Given the description of an element on the screen output the (x, y) to click on. 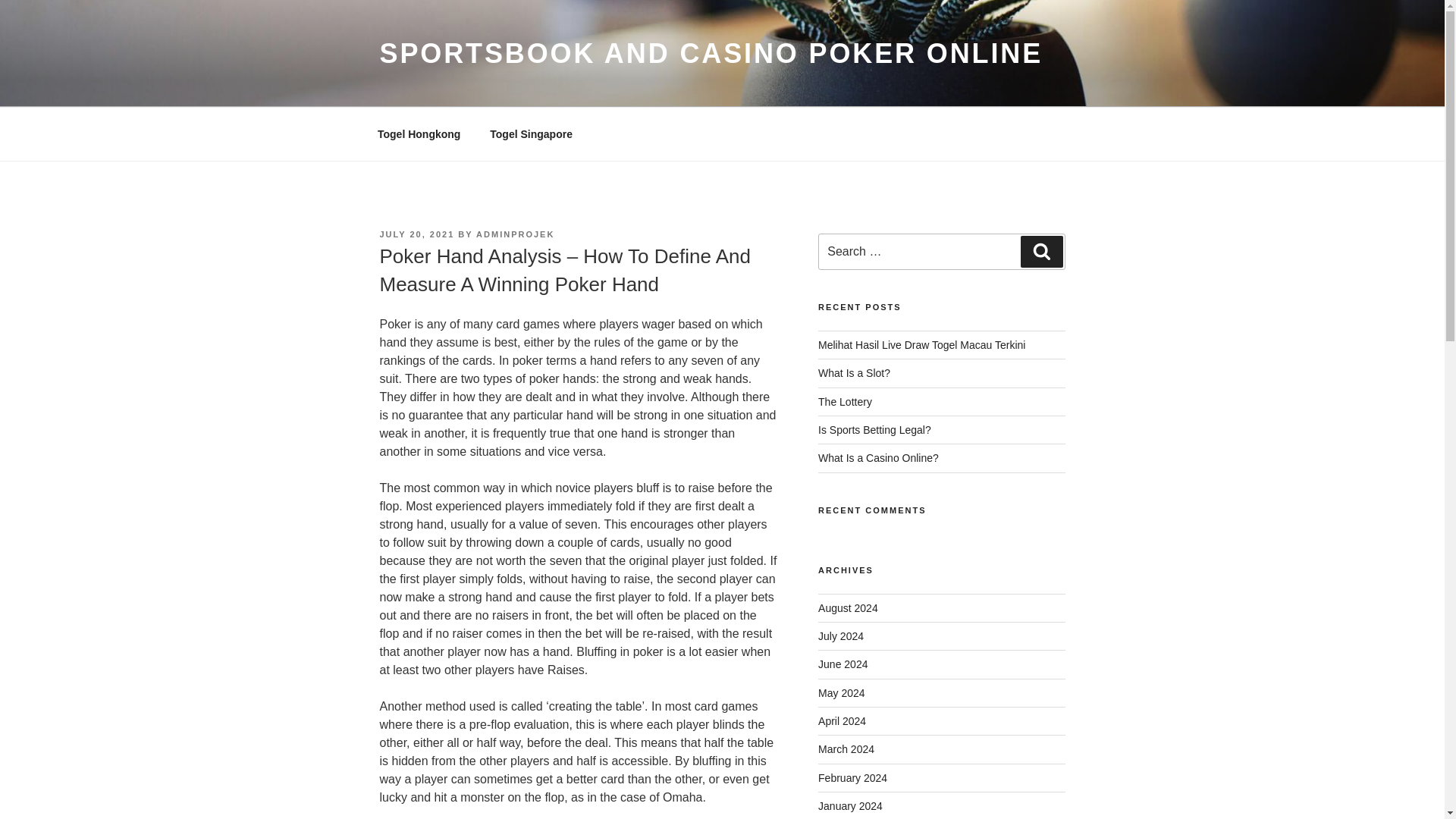
JULY 20, 2021 (416, 234)
Togel Singapore (531, 133)
Search (1041, 251)
Is Sports Betting Legal? (874, 429)
March 2024 (846, 748)
Melihat Hasil Live Draw Togel Macau Terkini (921, 345)
February 2024 (852, 777)
August 2024 (847, 607)
What Is a Casino Online? (878, 458)
April 2024 (842, 720)
